Given the description of an element on the screen output the (x, y) to click on. 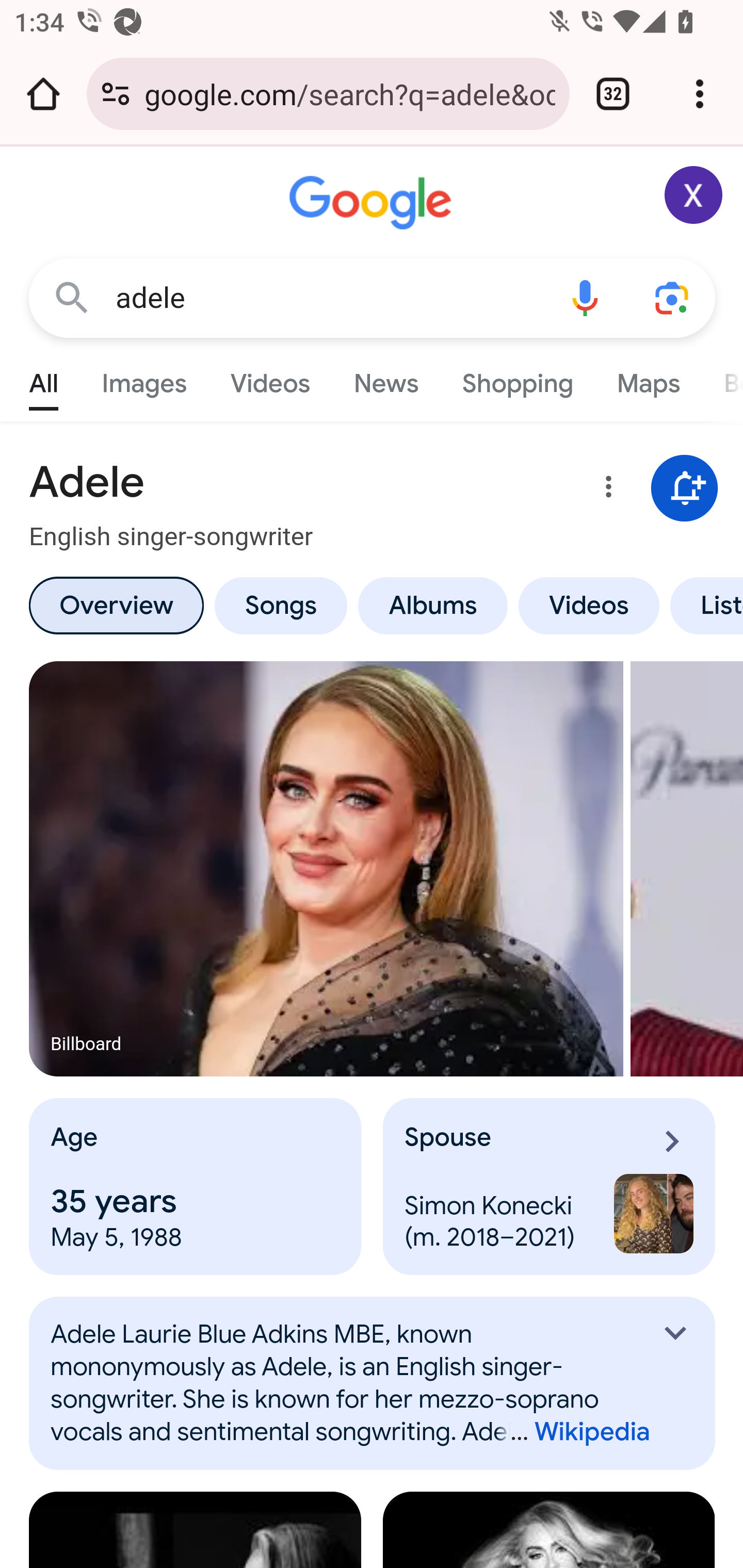
Open the home page (43, 93)
Connection is secure (115, 93)
Switch or close tabs (612, 93)
Customize and control Google Chrome (699, 93)
Google (372, 203)
Google Account: Xiaoran (zxrappiumtest@gmail.com) (694, 195)
Google Search (71, 296)
Search using your camera or photos (672, 296)
adele (328, 297)
Images (144, 378)
Videos (270, 378)
News (385, 378)
Shopping (516, 378)
Maps (647, 378)
Get notifications about Adele (684, 489)
More options (605, 489)
Overview (116, 605)
Songs (280, 605)
Albums (433, 605)
Videos (589, 605)
Age 35 years May 5, 1988 Age 35 years May 5, 1988 (195, 1186)
Wikipedia (572, 1431)
